Given the description of an element on the screen output the (x, y) to click on. 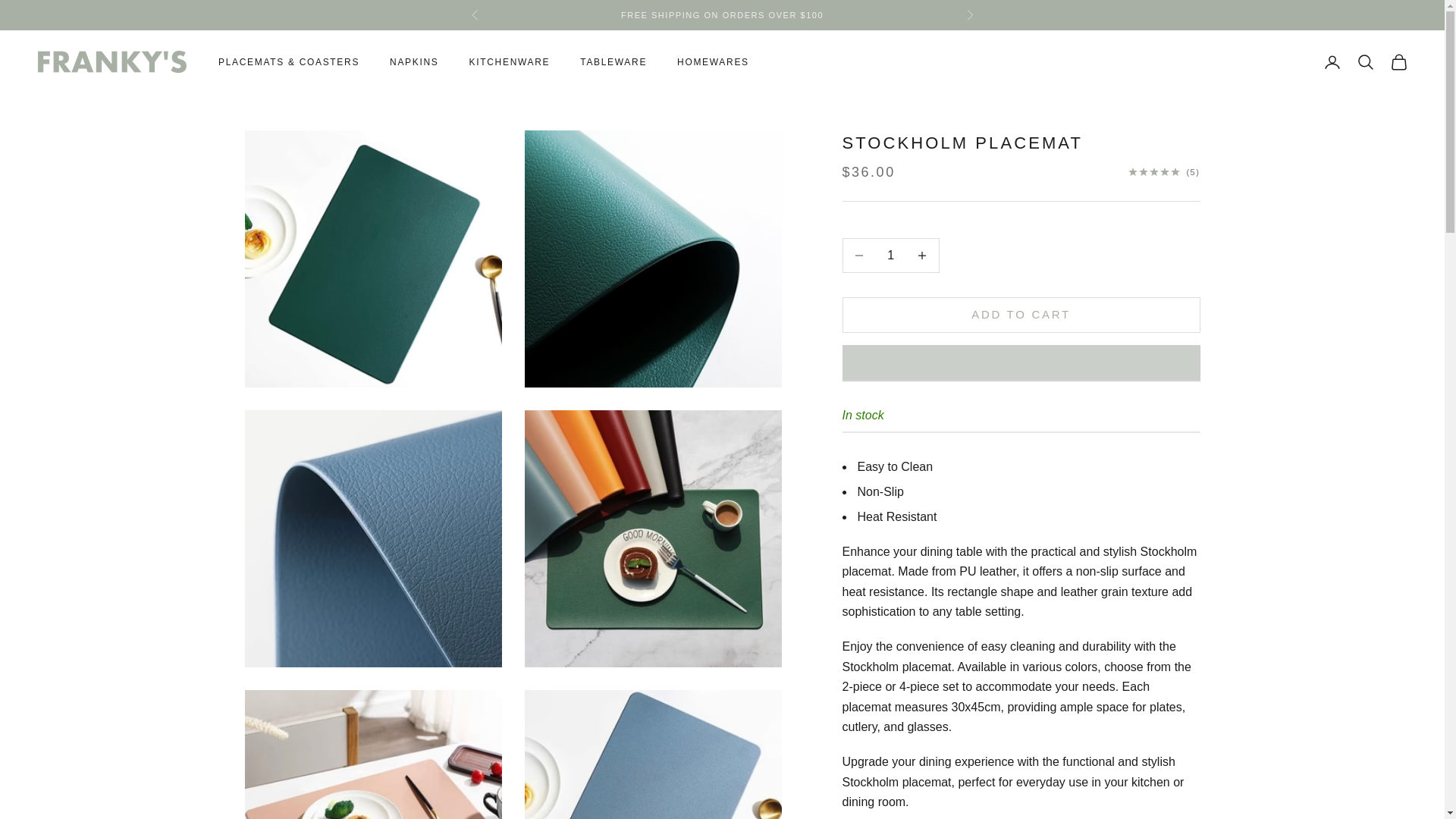
FRANKY'S (111, 61)
NAPKINS (414, 61)
Open search (1365, 62)
1 (890, 255)
5 reviews (1163, 171)
Open cart (1398, 62)
Open account page (1331, 62)
